Given the description of an element on the screen output the (x, y) to click on. 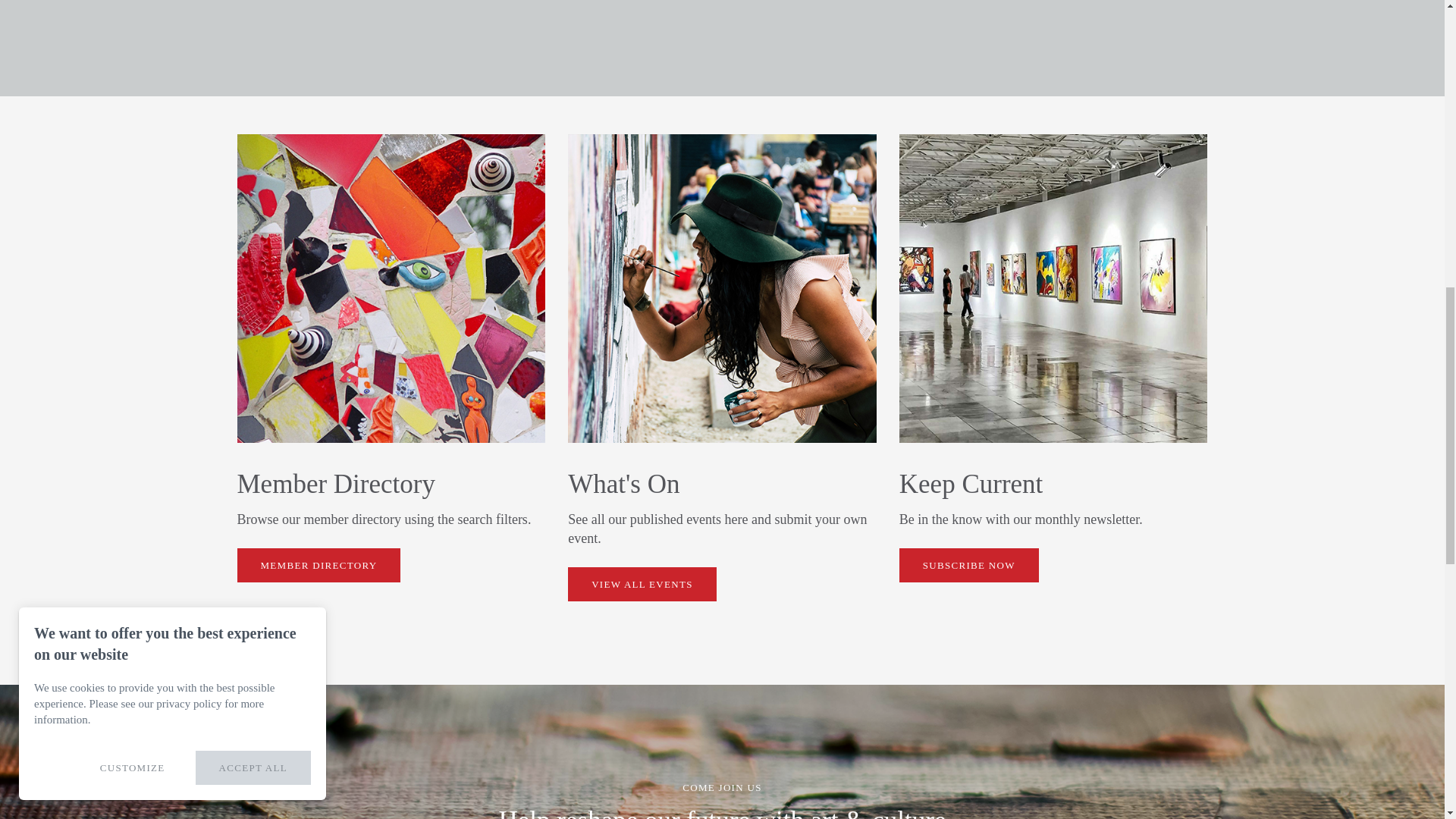
MEMBER DIRECTORY (317, 564)
VIEW ALL EVENTS (641, 584)
SUBSCRIBE NOW (969, 564)
